Given the description of an element on the screen output the (x, y) to click on. 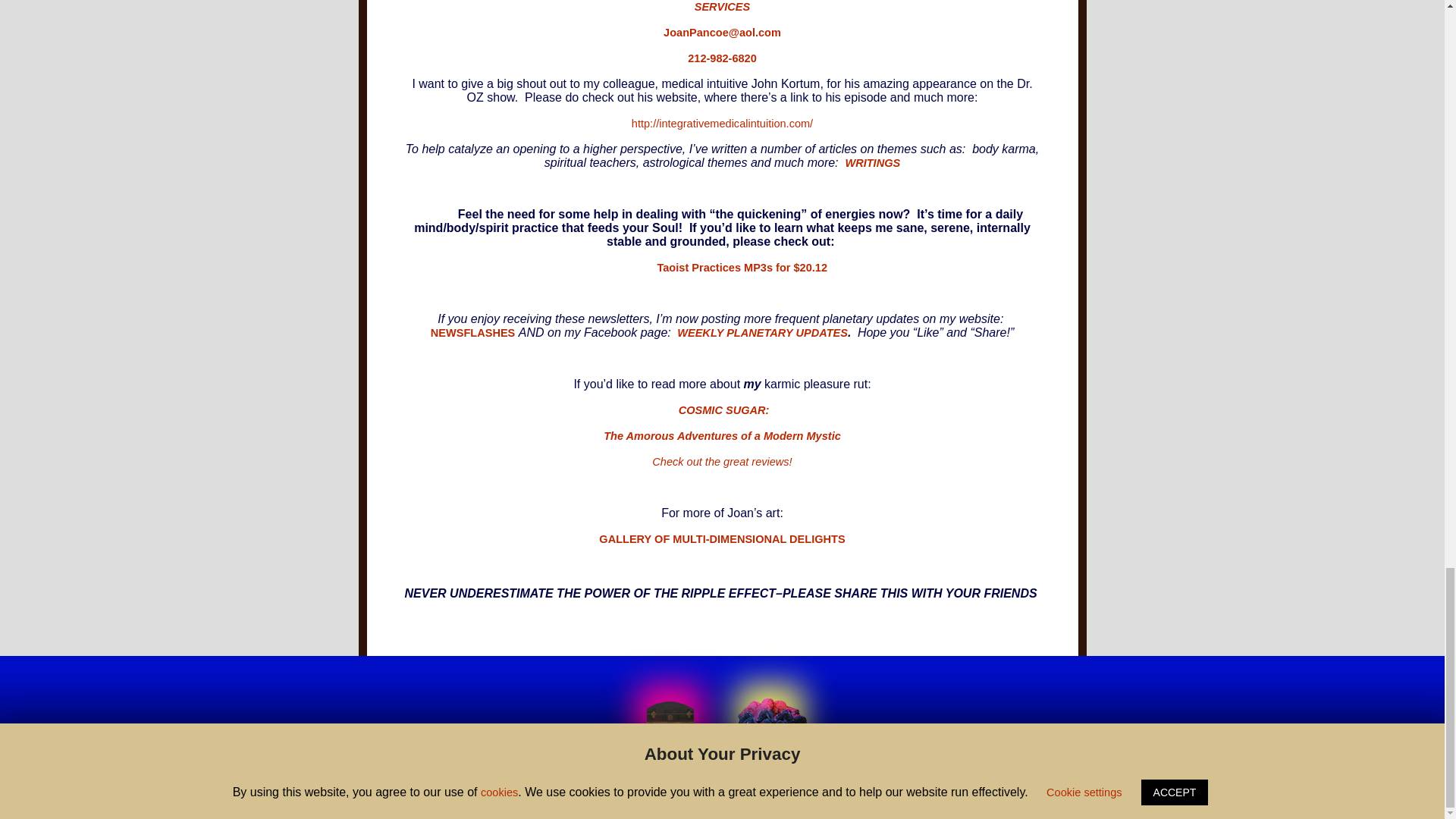
SERVICES (722, 6)
 COSMIC SUGAR: (722, 410)
Check out the great reviews! (722, 461)
NEWSFLASHES (472, 332)
WRITINGS (871, 162)
The Amorous Adventures of a Modern Mystic (722, 435)
GALLERY OF MULTI-DIMENSIONAL DELIGHTS (721, 539)
212-982-6820 (722, 58)
WEEKLY PLANETARY UPDATES (760, 332)
